Given the description of an element on the screen output the (x, y) to click on. 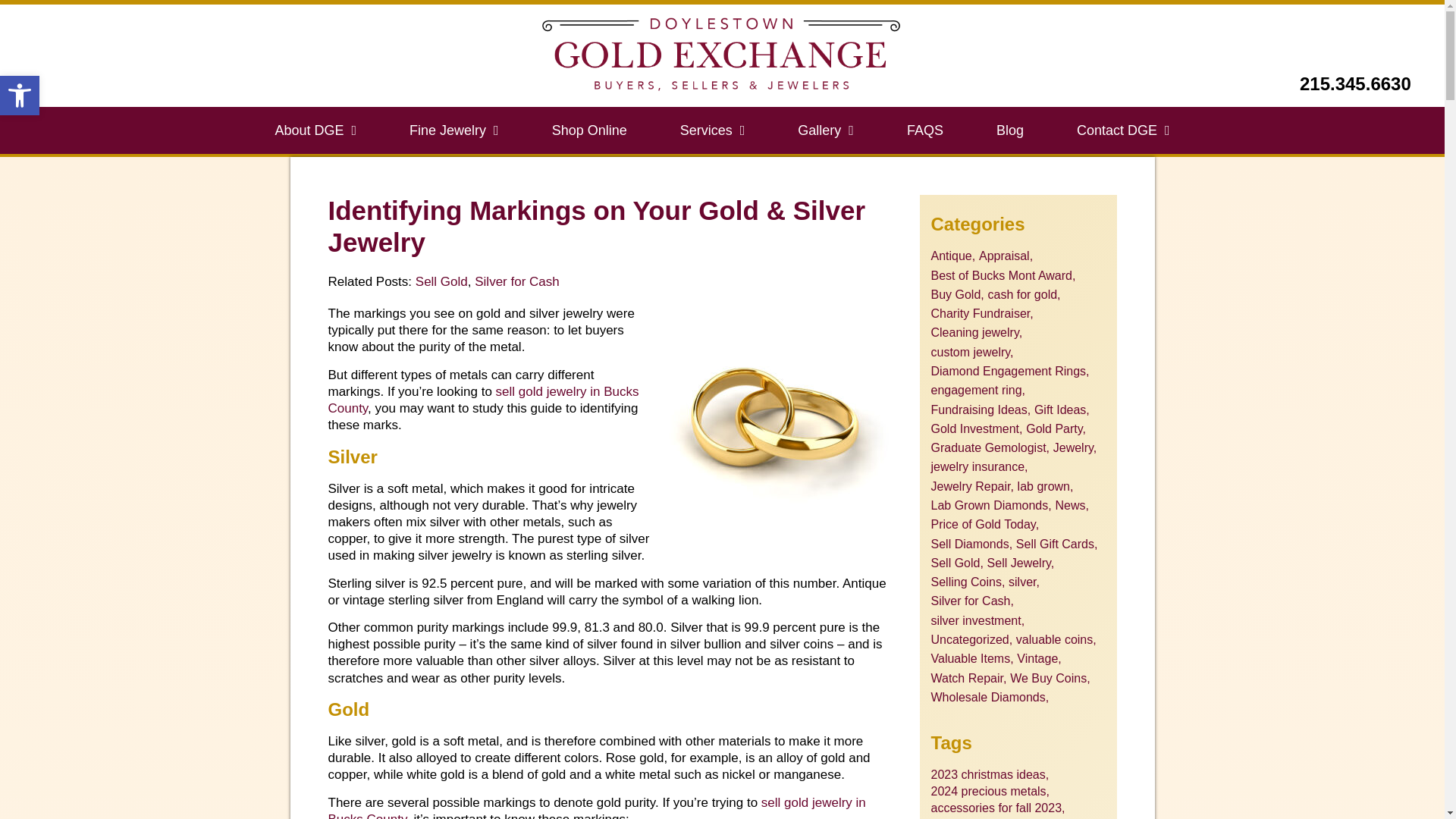
Services (19, 95)
Shop Online (712, 130)
215.345.6630 (589, 130)
Fine Jewelry (1355, 83)
Accessibility Tools (454, 130)
Accessibility Tools (19, 95)
About DGE (19, 95)
